Given the description of an element on the screen output the (x, y) to click on. 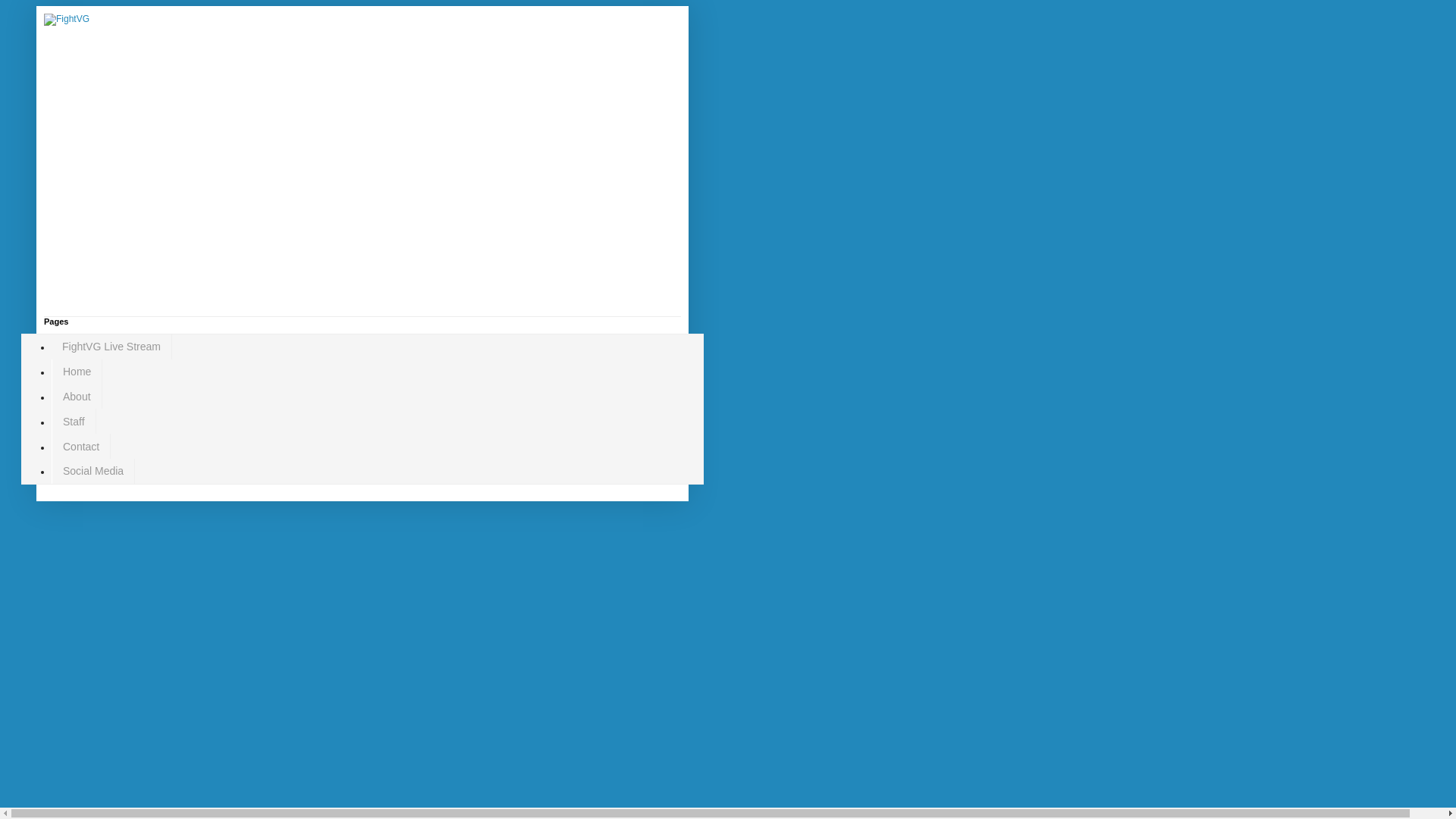
Home (75, 371)
Social Media (92, 471)
Staff (73, 421)
FightVG Live Stream (110, 346)
Contact (80, 446)
About (75, 396)
